Given the description of an element on the screen output the (x, y) to click on. 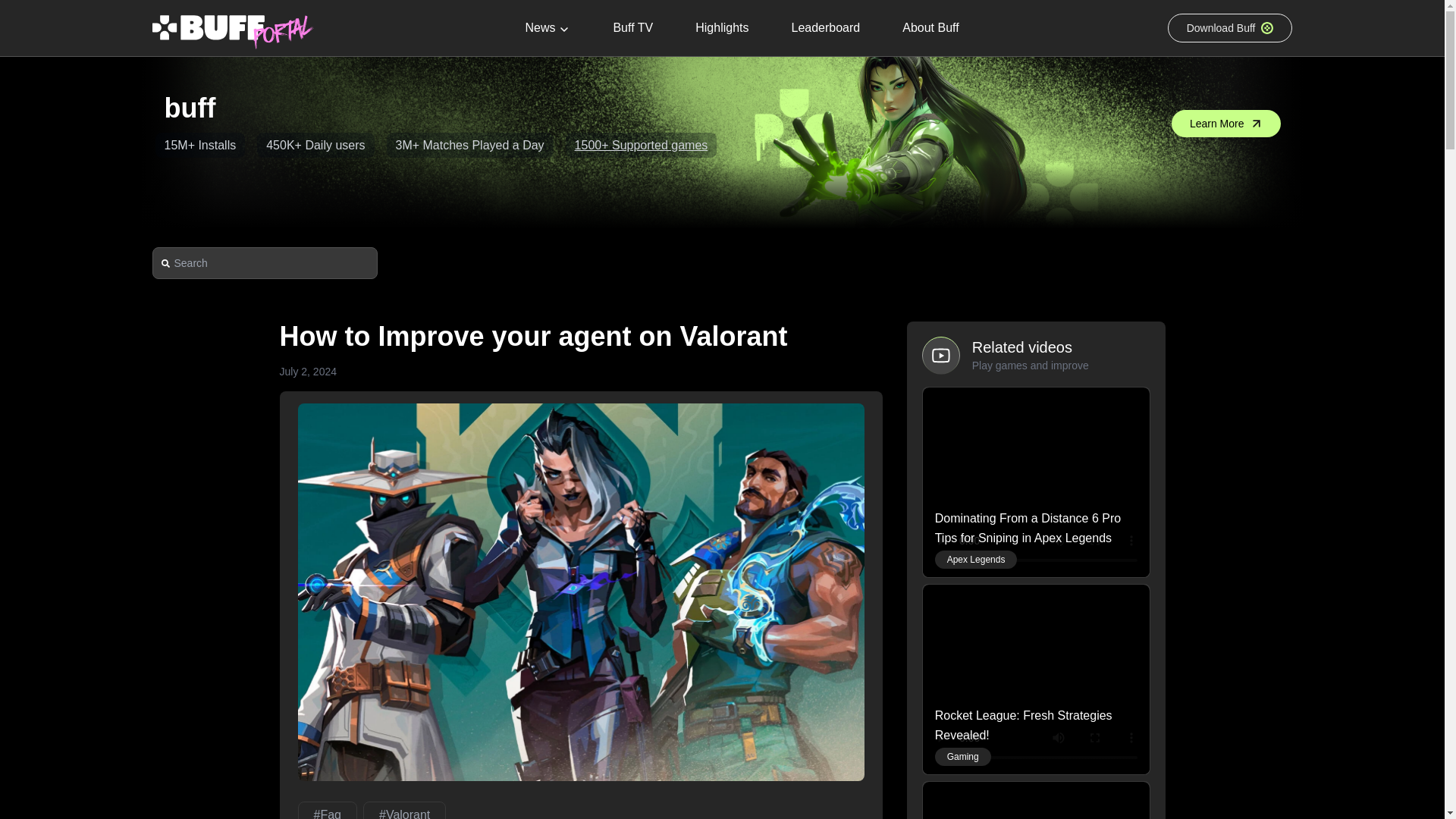
Download Buff (1229, 27)
Highlights (721, 28)
Buff TV (633, 28)
News (547, 28)
Learn More (1226, 123)
About Buff (930, 28)
Leaderboard (825, 28)
